Given the description of an element on the screen output the (x, y) to click on. 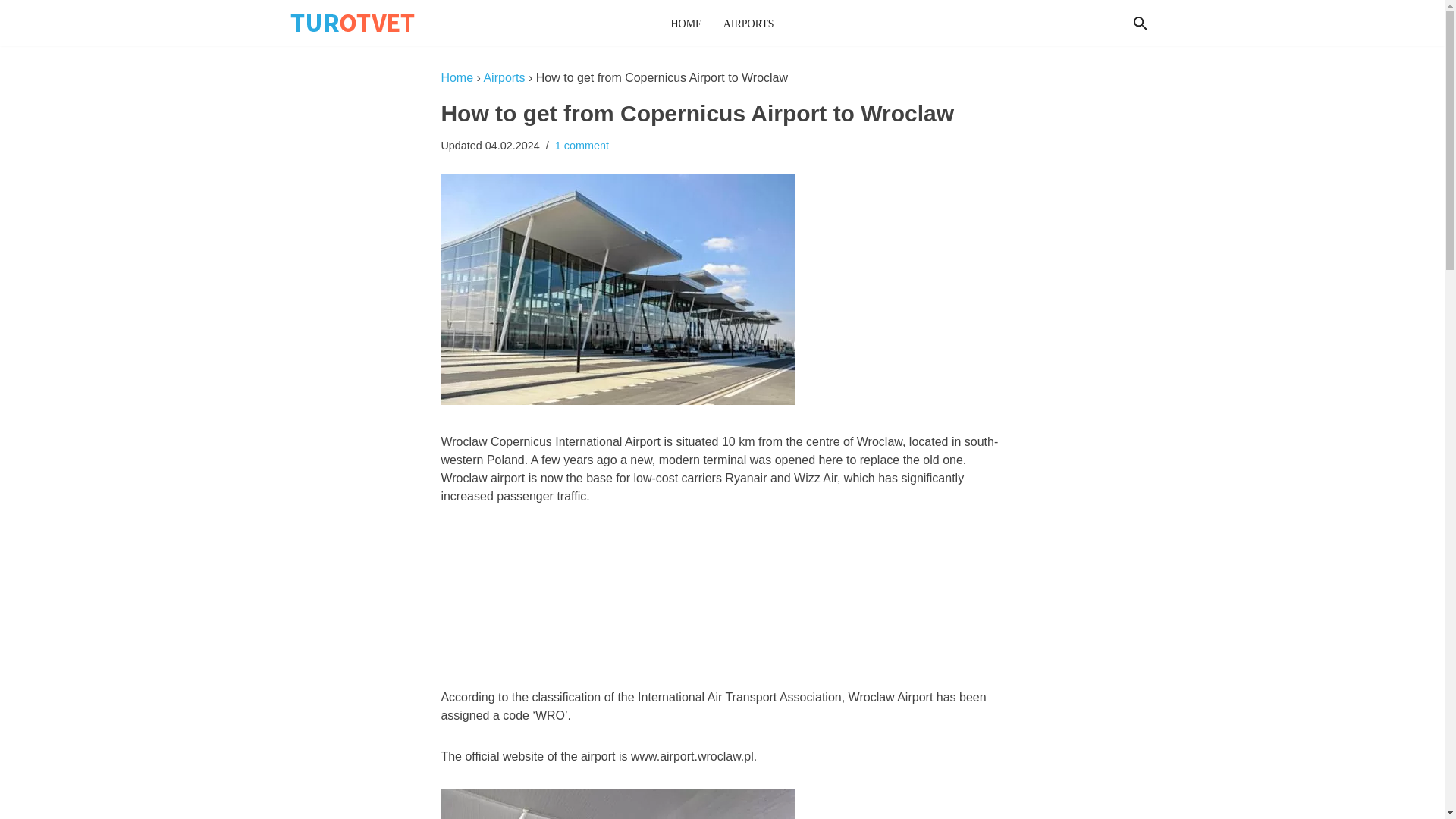
Airports (503, 77)
HOME (685, 22)
1 comment (581, 145)
Skip to content (11, 31)
Advertisement (722, 598)
Home (457, 77)
AIRPORTS (748, 22)
Airports (503, 77)
Home (457, 77)
